Given the description of an element on the screen output the (x, y) to click on. 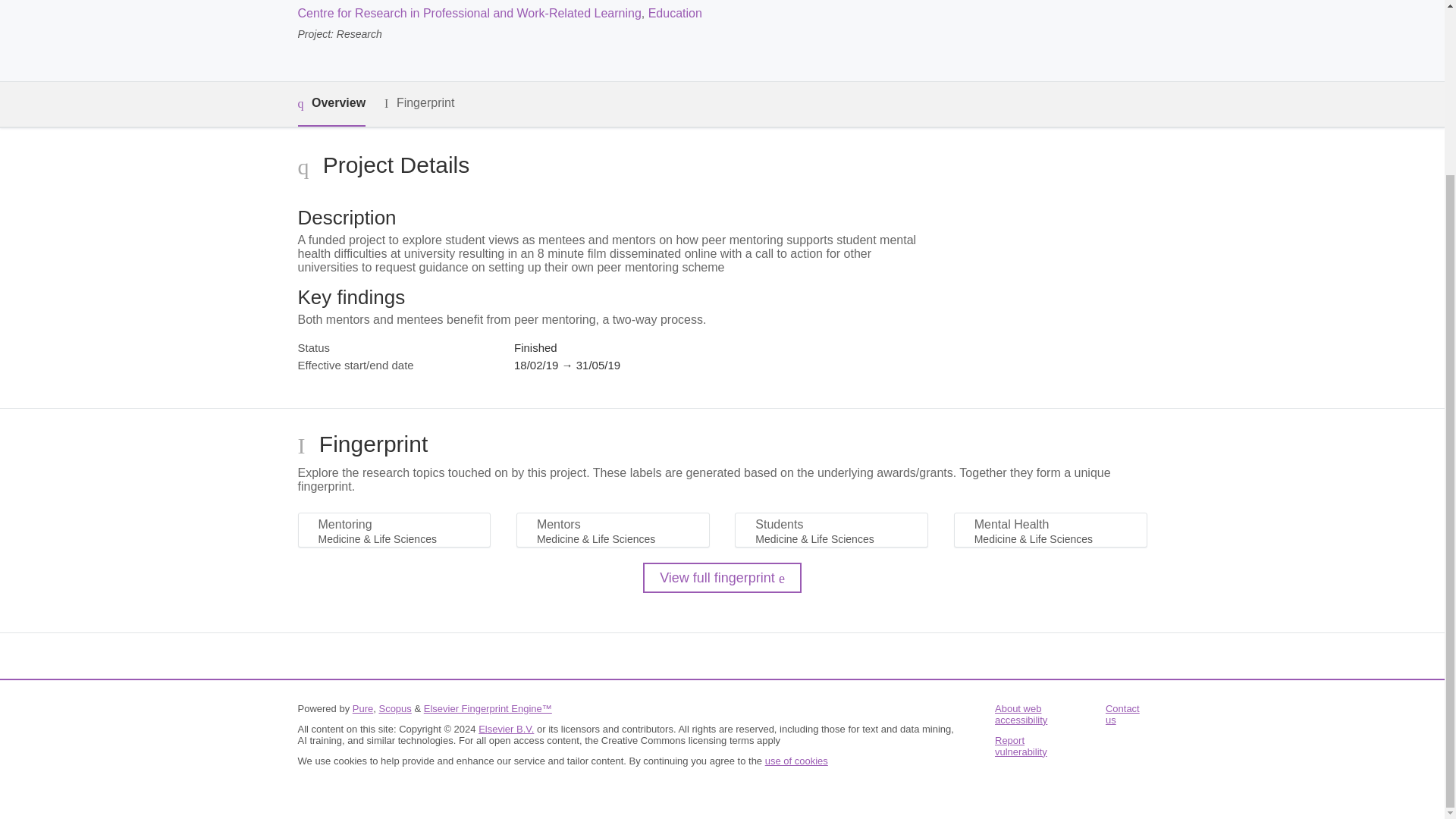
Elsevier B.V. (506, 728)
View full fingerprint (722, 577)
Report vulnerability (1020, 745)
Overview (331, 103)
About web accessibility (1020, 713)
Contact us (1122, 713)
use of cookies (796, 760)
Scopus (394, 708)
Fingerprint (419, 103)
Education (674, 12)
Pure (362, 708)
